Given the description of an element on the screen output the (x, y) to click on. 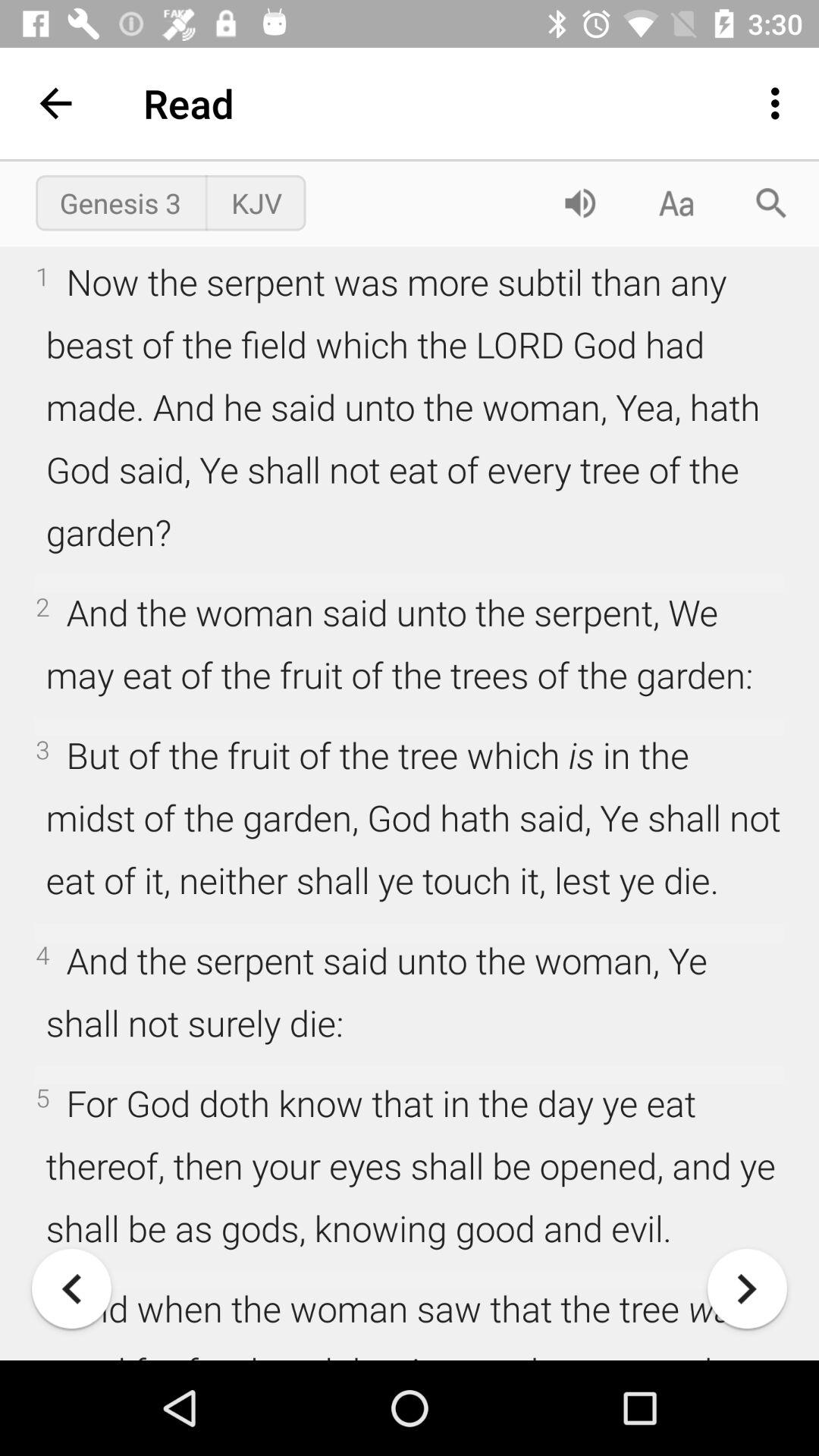
choose item below 4 and the icon (747, 1288)
